Given the description of an element on the screen output the (x, y) to click on. 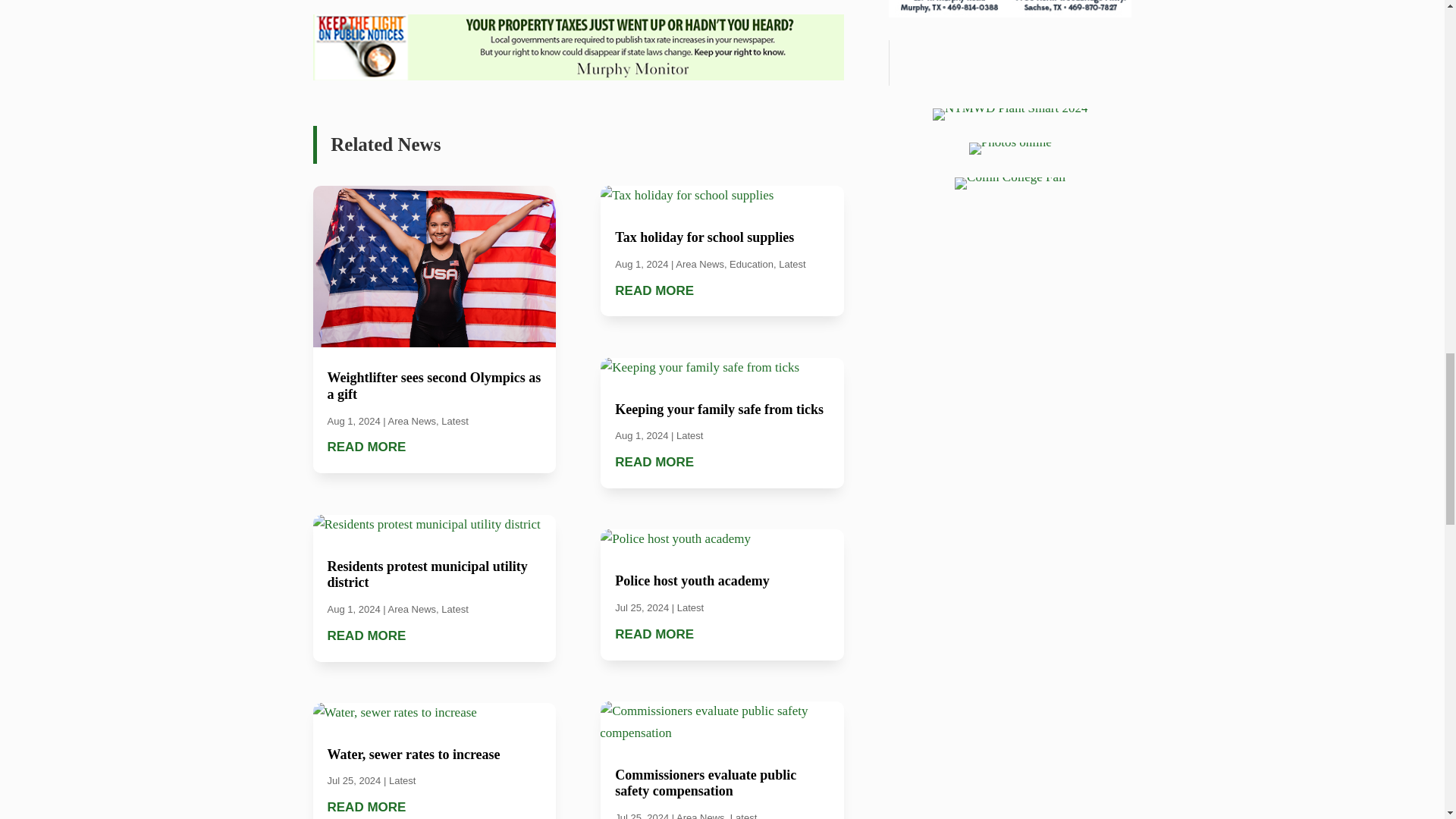
FY24-Summer-KnowWhenToWater-Static Ads 300x250 (1010, 114)
Jersey Mikes 15095 Web banner Above 300x250 (1009, 8)
MM-300x250 (578, 47)
